Given the description of an element on the screen output the (x, y) to click on. 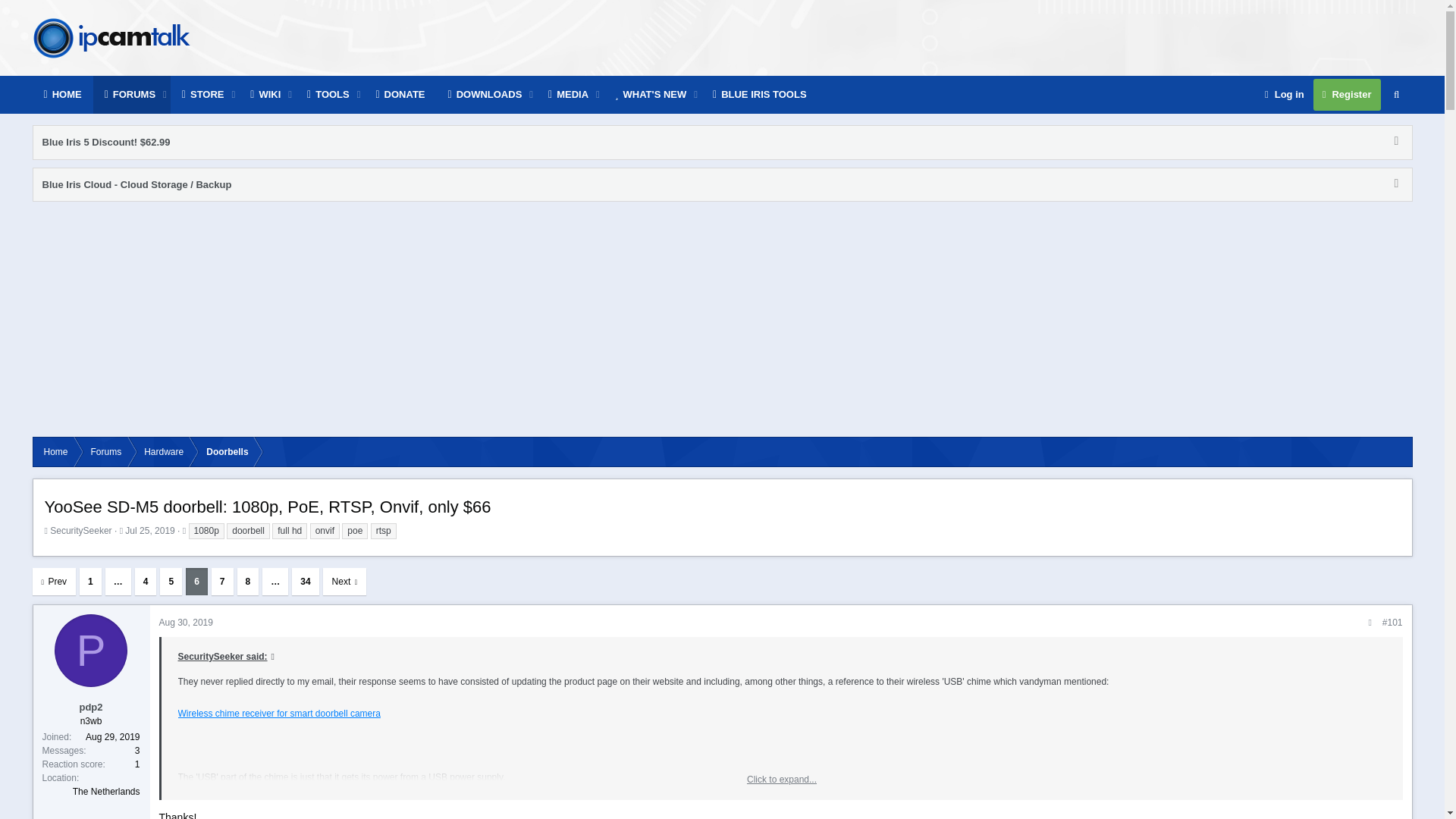
MEDIA (568, 94)
HOME (62, 94)
DOWNLOADS (485, 94)
WIKI (265, 94)
STORE (202, 94)
FORUMS (130, 94)
Aug 30, 2019 at 7:08 PM (185, 622)
DONATE (399, 94)
